Given the description of an element on the screen output the (x, y) to click on. 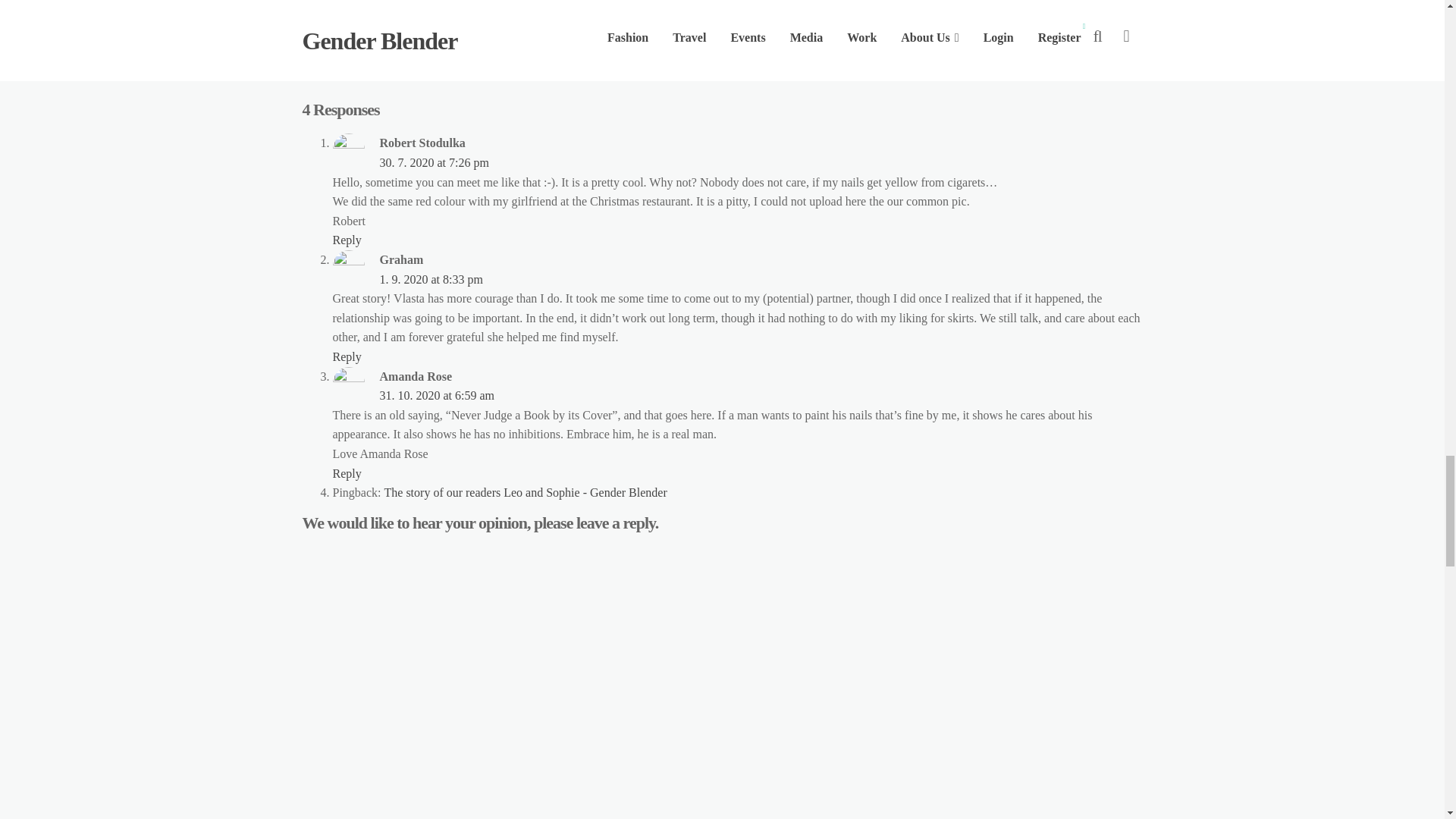
Reply (346, 239)
30. 7. 2020 at 7:26 pm (432, 162)
